Given the description of an element on the screen output the (x, y) to click on. 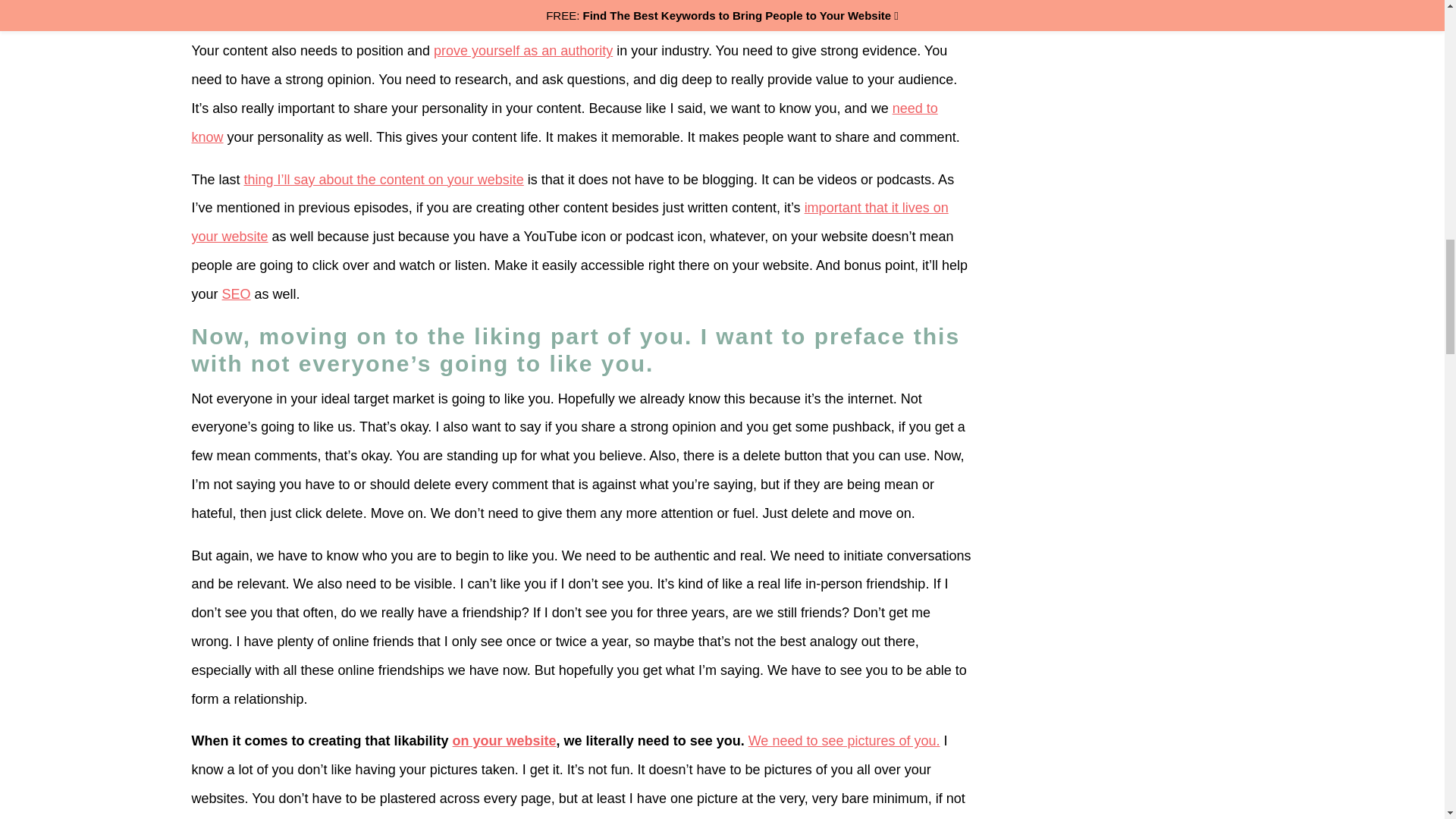
SEO (236, 294)
